Given the description of an element on the screen output the (x, y) to click on. 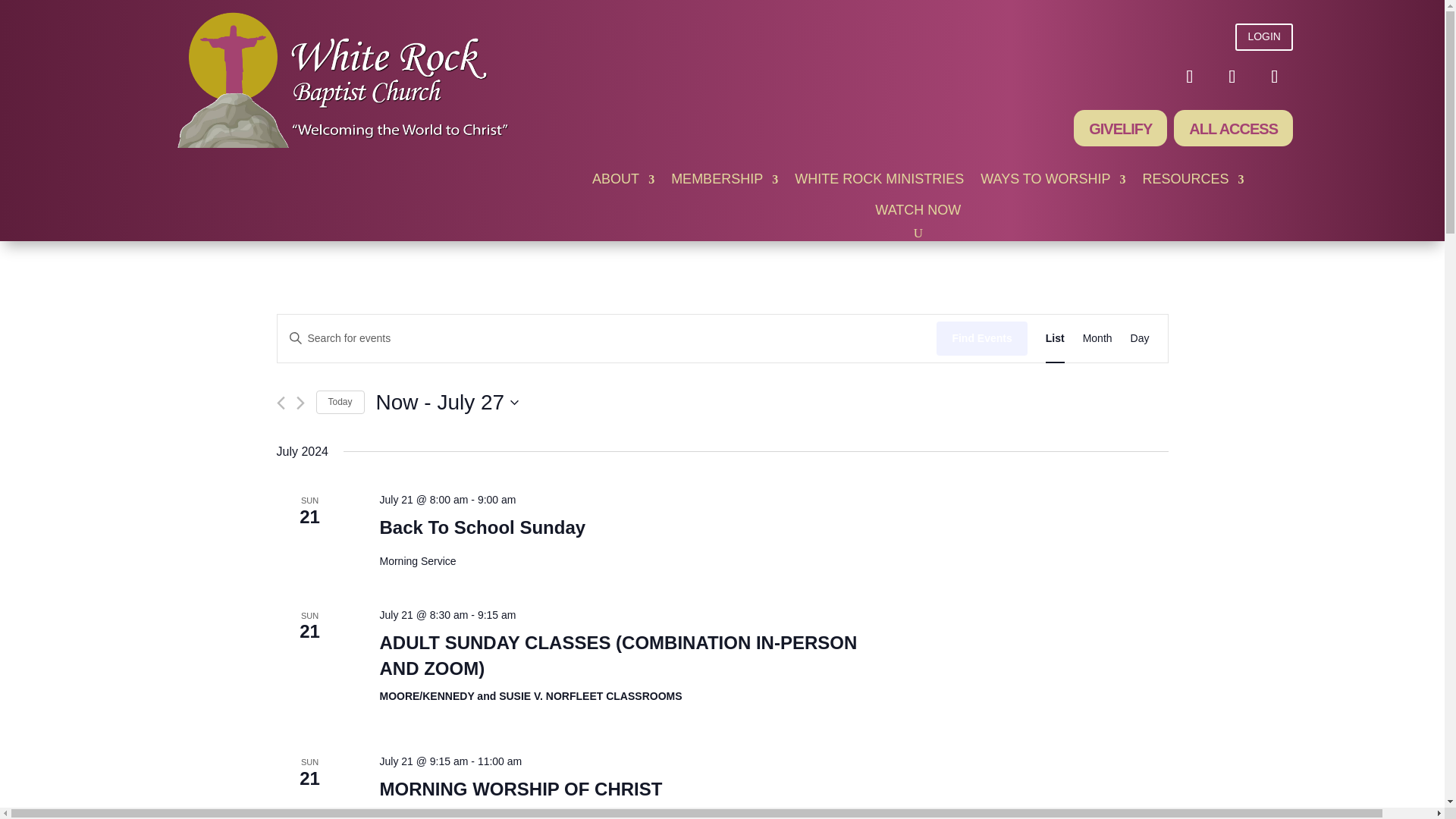
MEMBERSHIP (724, 181)
WAYS TO WORSHIP (1052, 181)
Click to toggle datepicker (447, 402)
RESOURCES (1193, 181)
GIVELIFY (1120, 127)
ABOUT (622, 181)
Back To School Sunday (481, 527)
ALL ACCESS (1232, 127)
WHITE ROCK MINISTRIES (878, 181)
MORNING WORSHIP OF CHRIST (520, 789)
Follow on Instagram (1274, 76)
Click to select today's date (339, 402)
Follow on Youtube (1232, 76)
Follow on Facebook (1190, 76)
WATCH NOW (917, 213)
